Given the description of an element on the screen output the (x, y) to click on. 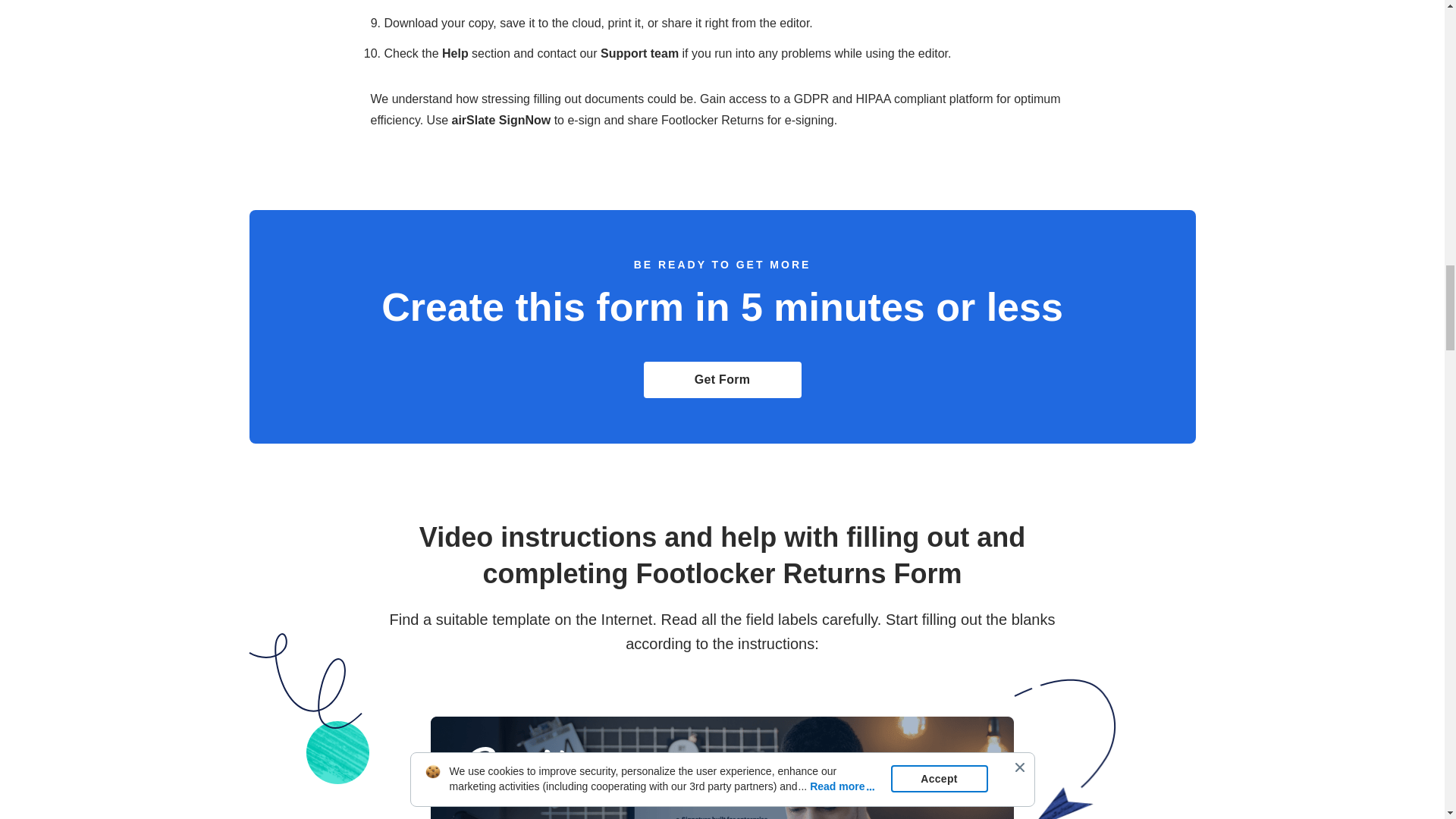
Get Form (721, 379)
